Given the description of an element on the screen output the (x, y) to click on. 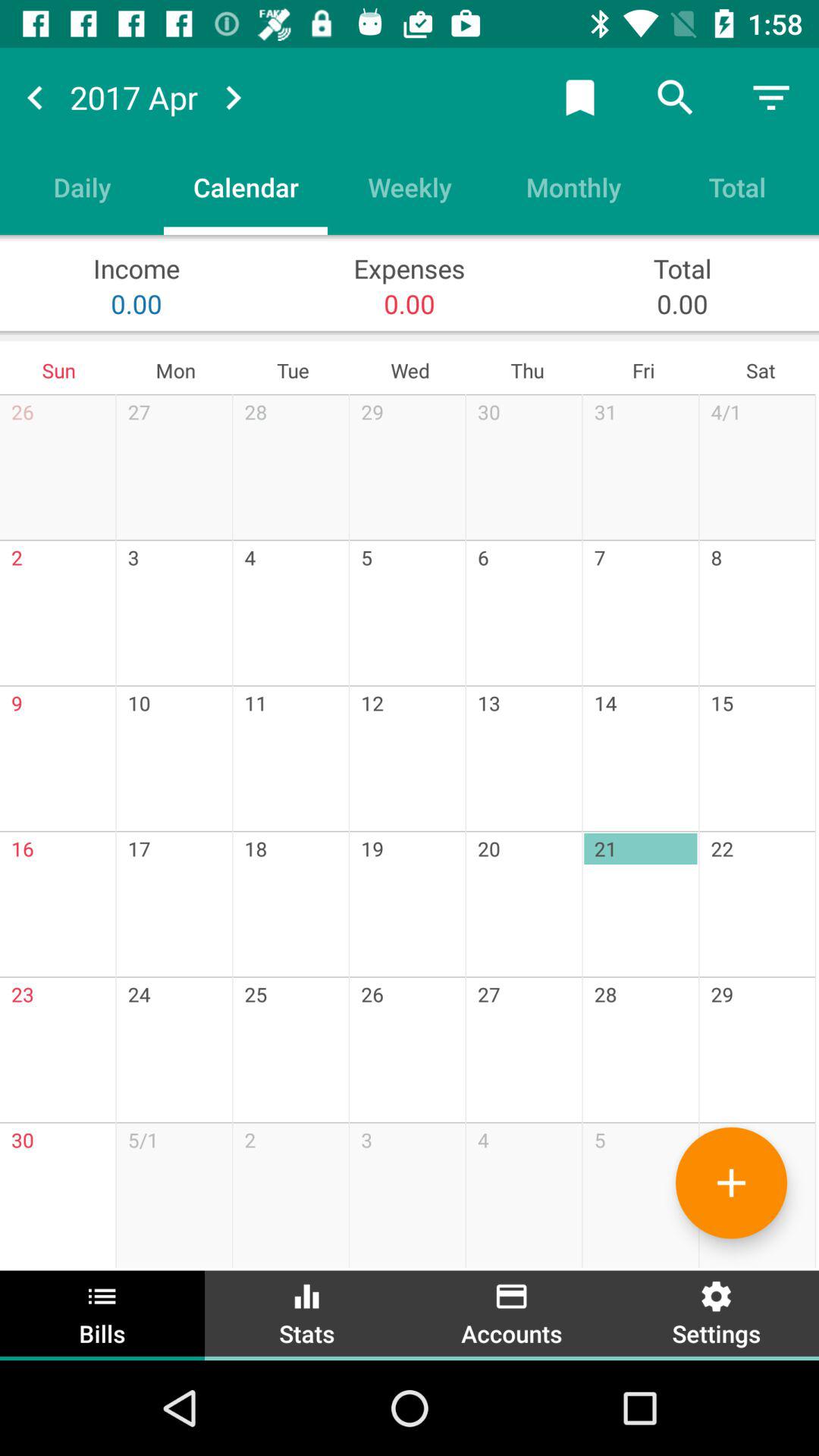
go back (34, 97)
